Given the description of an element on the screen output the (x, y) to click on. 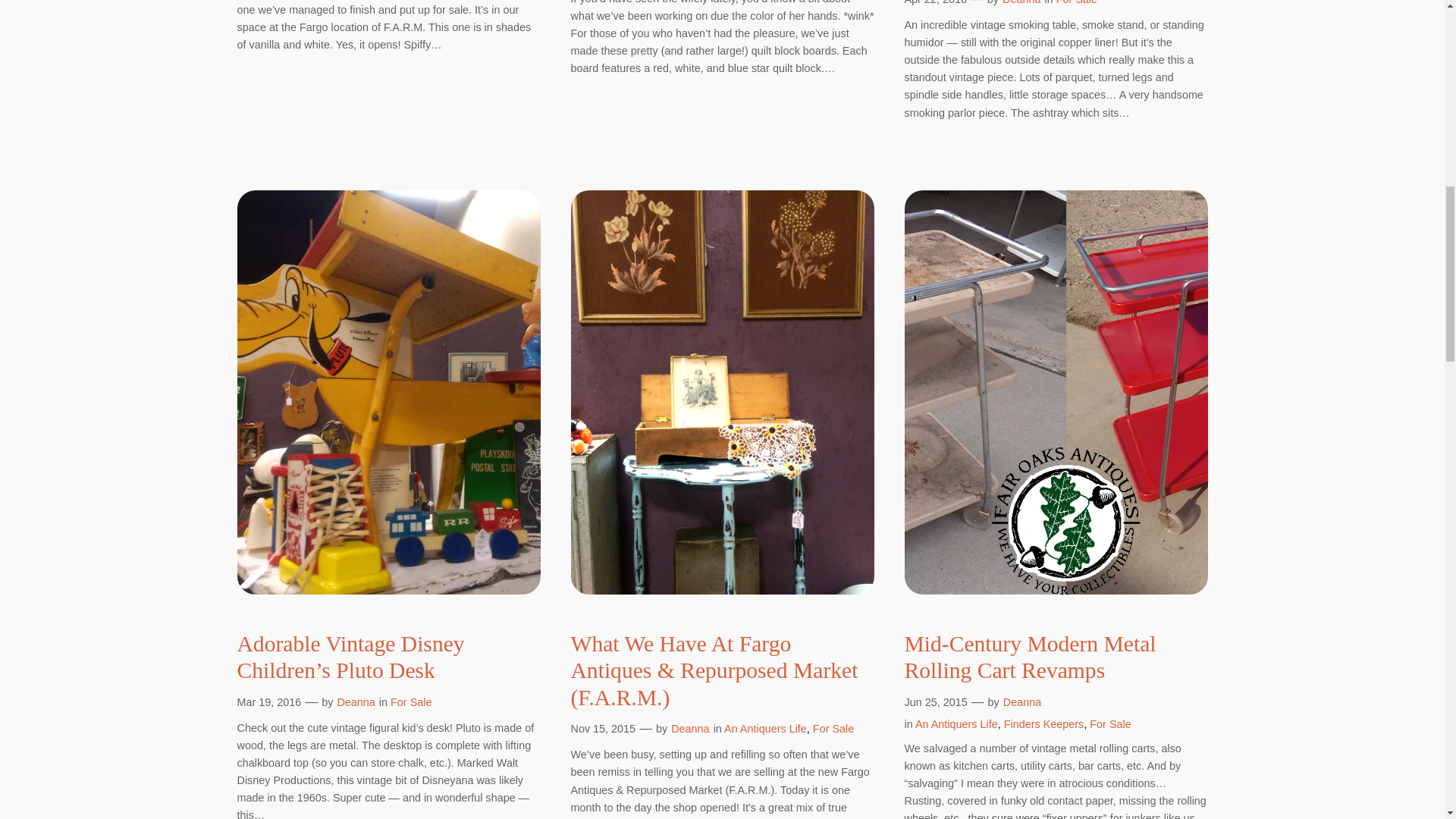
An Antiquers Life (956, 724)
Deanna (355, 702)
For Sale (410, 702)
An Antiquers Life (764, 728)
Nov 15, 2015 (602, 728)
Jun 25, 2015 (935, 702)
For Sale (832, 728)
Deanna (690, 728)
Mar 19, 2016 (268, 702)
Mid-Century Modern Metal Rolling Cart Revamps (1055, 657)
Apr 22, 2016 (935, 2)
Deanna (1022, 702)
For Sale (1077, 2)
Deanna (1022, 2)
